Given the description of an element on the screen output the (x, y) to click on. 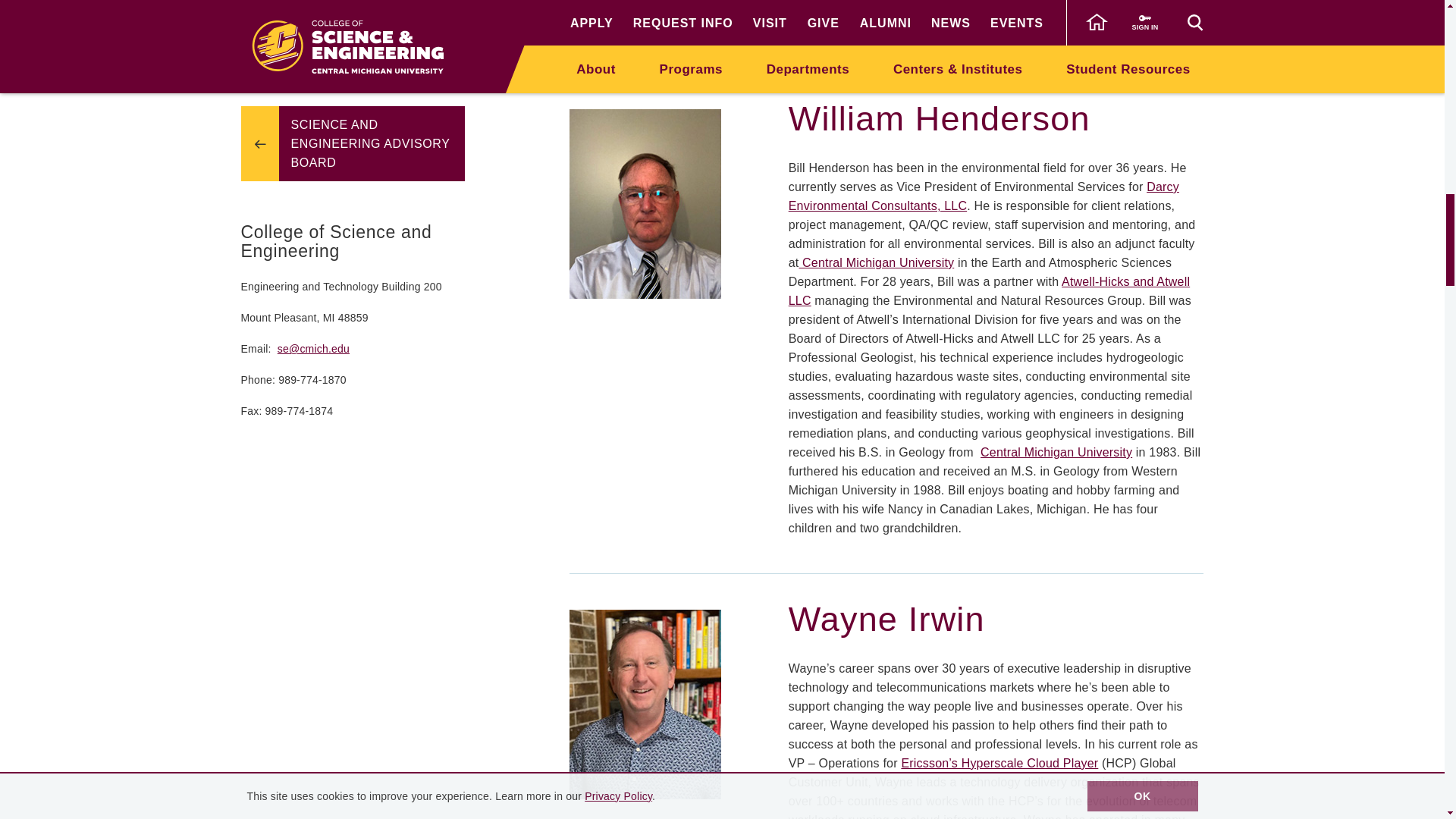
Atwell-Hicks and Atwell LLC (989, 291)
Darcy Environmental Consultants, LLC (984, 196)
